Given the description of an element on the screen output the (x, y) to click on. 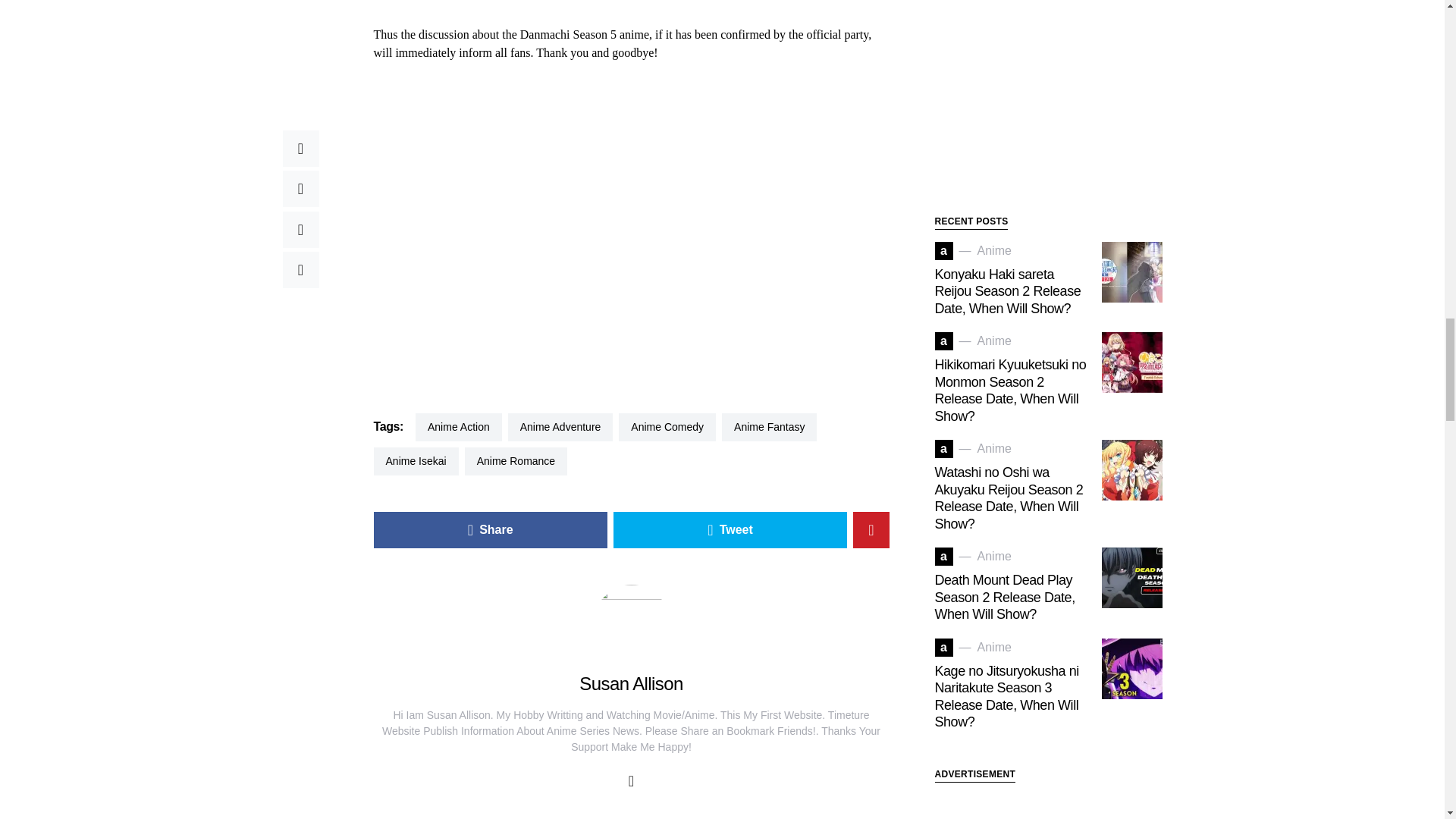
Anime Comedy (667, 426)
Anime Adventure (560, 426)
Anime Action (458, 426)
